Given the description of an element on the screen output the (x, y) to click on. 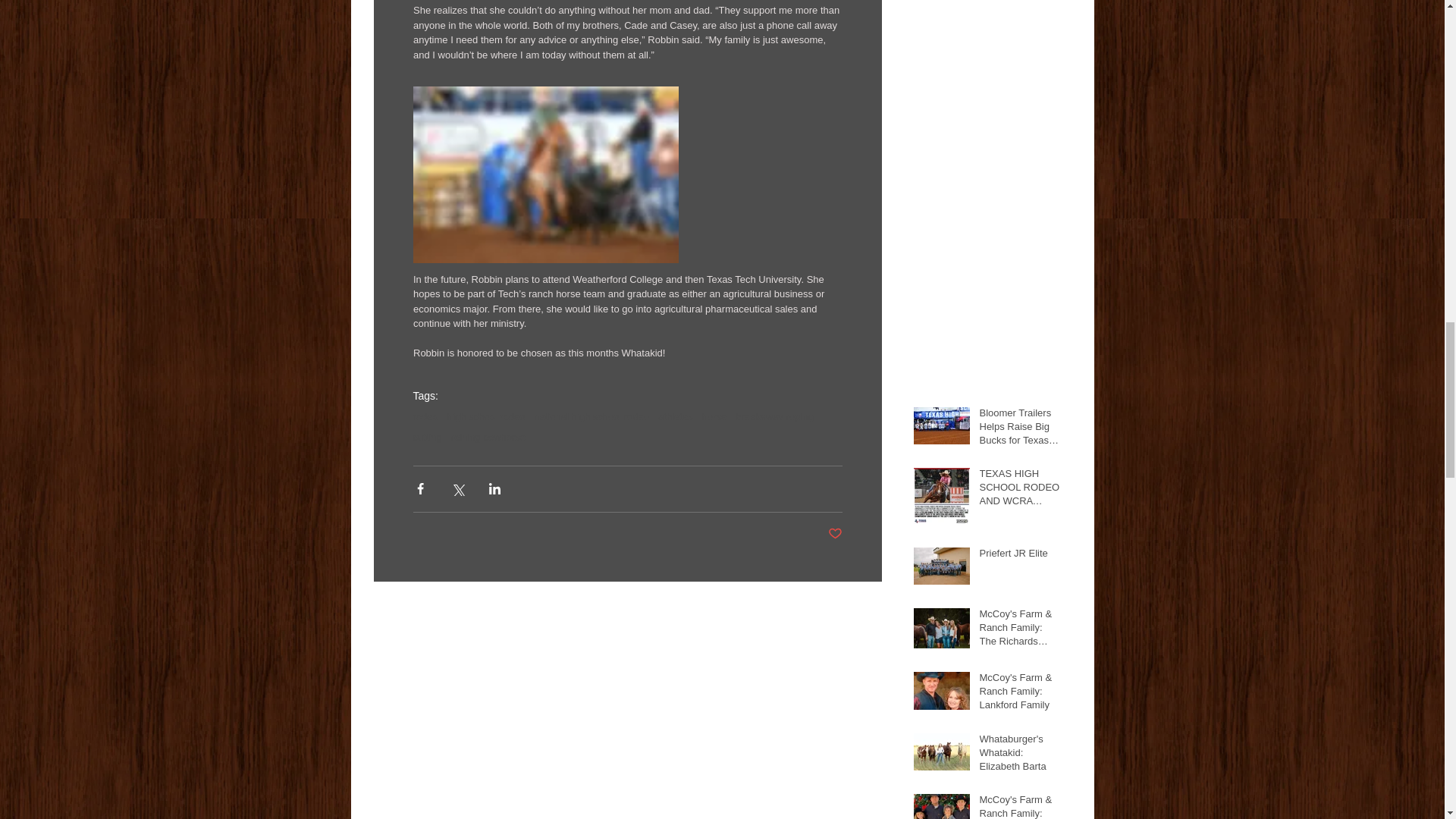
cutting (426, 437)
rodeo (425, 416)
high school rodeo (485, 416)
breakaway roping (774, 416)
reining cowhorse (488, 437)
athletes (675, 416)
horse (713, 416)
Priefert JR Elite (1020, 556)
national high school rodeo (591, 416)
Post not marked as liked (835, 534)
